Given the description of an element on the screen output the (x, y) to click on. 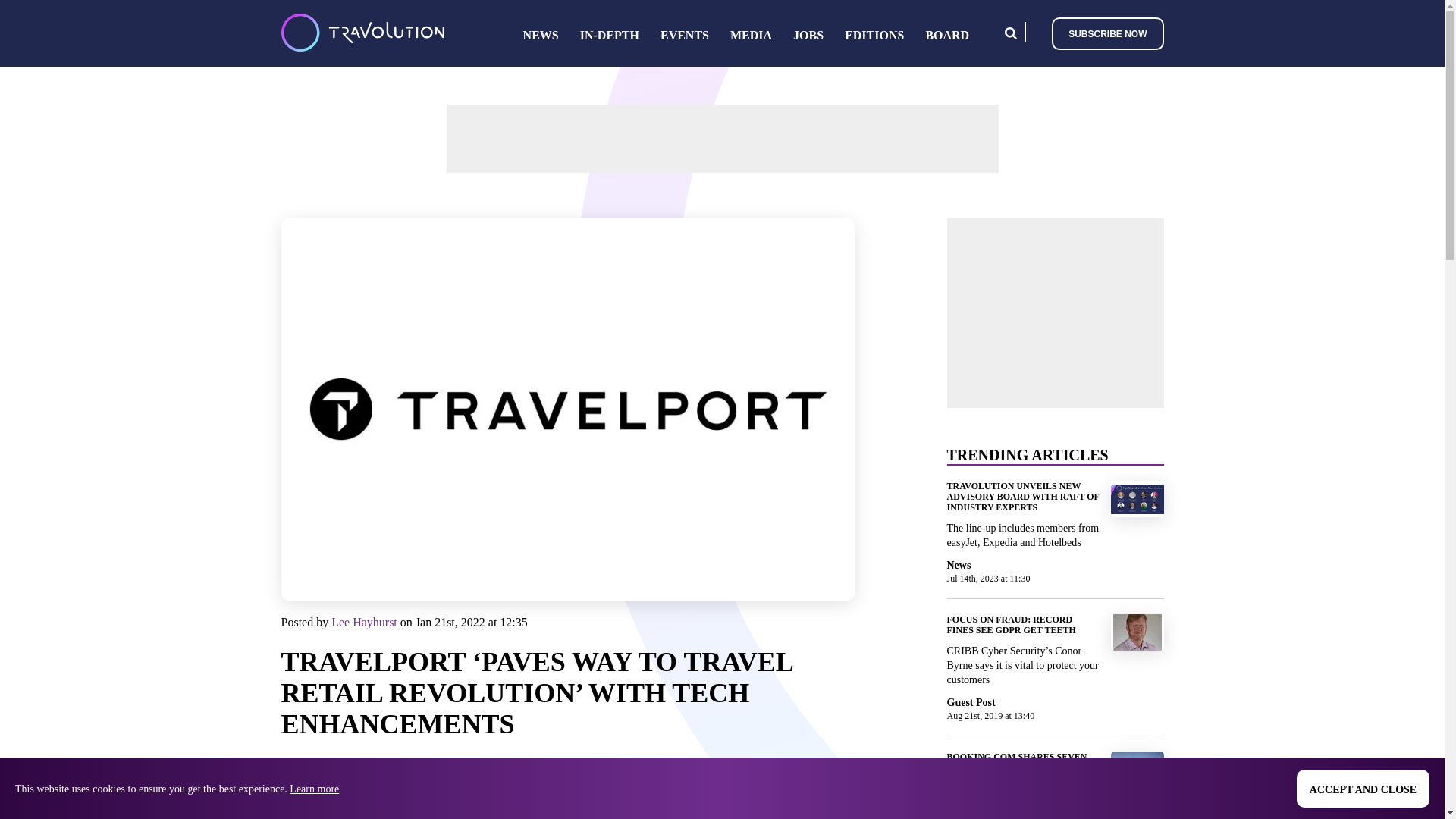
EDITIONS (874, 34)
NEWS (540, 34)
Lee Hayhurst (364, 621)
Search (1010, 32)
JOBS (808, 34)
MEDIA (750, 34)
BOARD (946, 34)
Board (946, 34)
IN-DEPTH (609, 34)
SUBSCRIBE NOW (1107, 32)
EVENTS (685, 34)
